Given the description of an element on the screen output the (x, y) to click on. 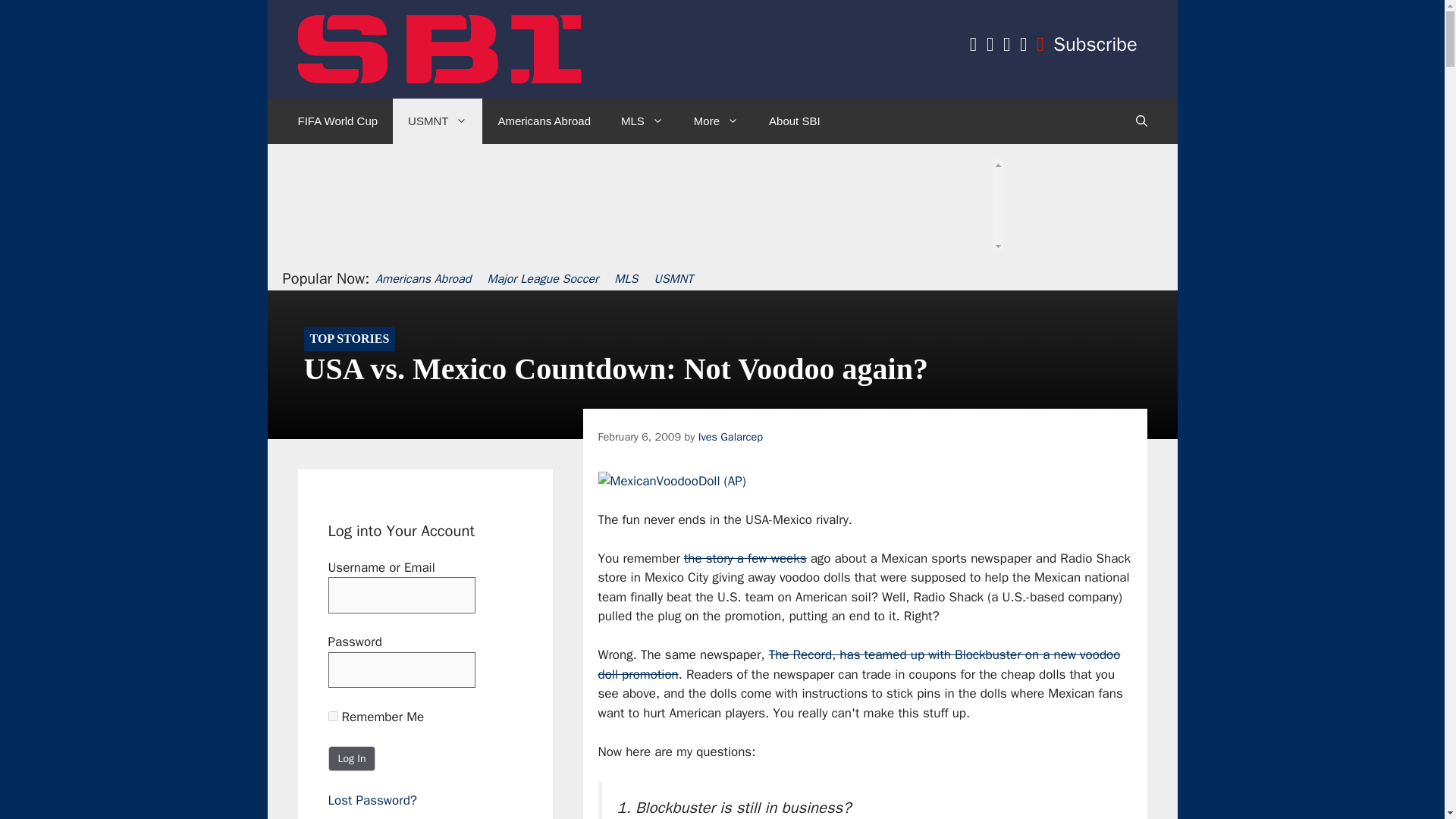
View all posts by Ives Galarcep (730, 436)
MLS (641, 121)
Log In (351, 759)
Subscribe (1094, 43)
forever (332, 716)
Americans Abroad (543, 121)
FIFA World Cup (337, 121)
USMNT (437, 121)
